Given the description of an element on the screen output the (x, y) to click on. 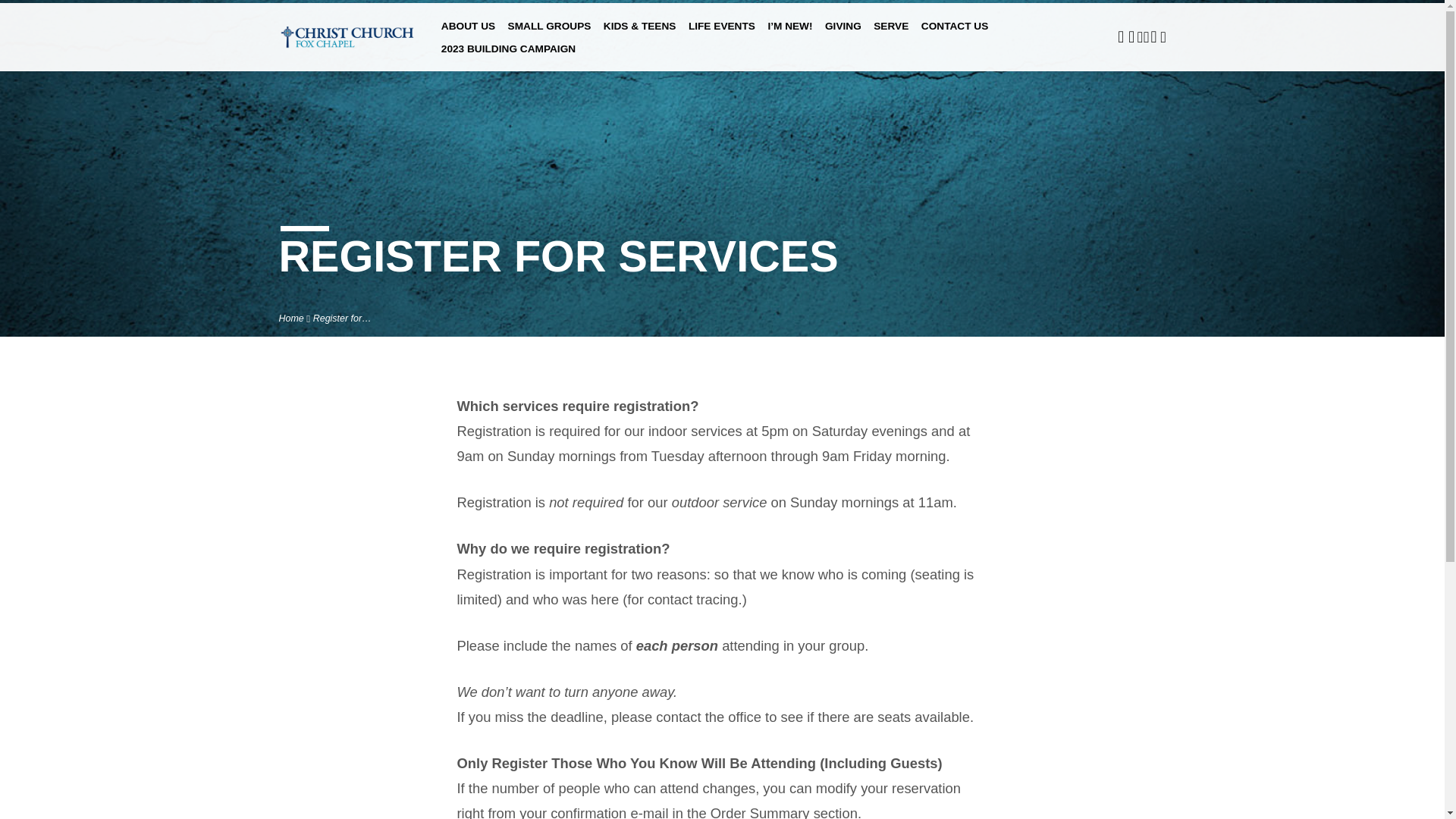
SMALL GROUPS (549, 33)
CONTACT US (954, 33)
App Store (1153, 36)
LIFE EVENTS (721, 33)
2023 BUILDING CAMPAIGN (508, 56)
ABOUT US (468, 33)
Facebook (1121, 36)
GIVING (843, 33)
Podcast (1139, 36)
Google Play (1163, 36)
SERVE (890, 33)
Podcast (1146, 36)
YouTube (1131, 36)
